Given the description of an element on the screen output the (x, y) to click on. 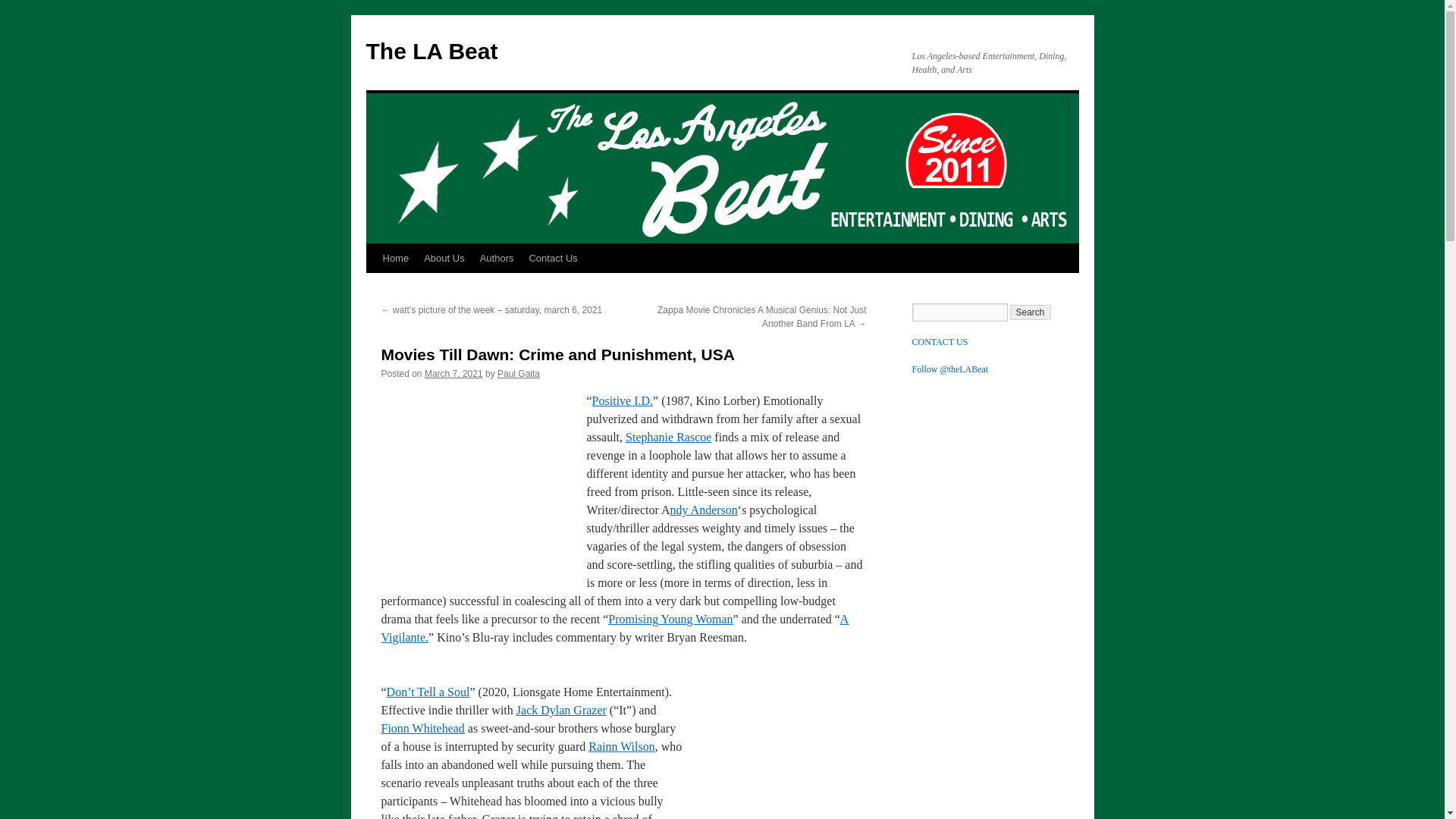
A Vigilante. (614, 627)
Contact Us (553, 258)
ndy Anderson (702, 509)
View all posts by Paul Gaita (518, 373)
Fionn Whitehead (422, 727)
Promising Young Woman (670, 618)
Positive I.D. (622, 400)
Search (1030, 312)
March 7, 2021 (454, 373)
Rainn Wilson (621, 746)
The LA Beat (431, 50)
7:57 am (454, 373)
CONTACT US (939, 341)
Authors (496, 258)
Stephanie Rascoe (668, 436)
